Given the description of an element on the screen output the (x, y) to click on. 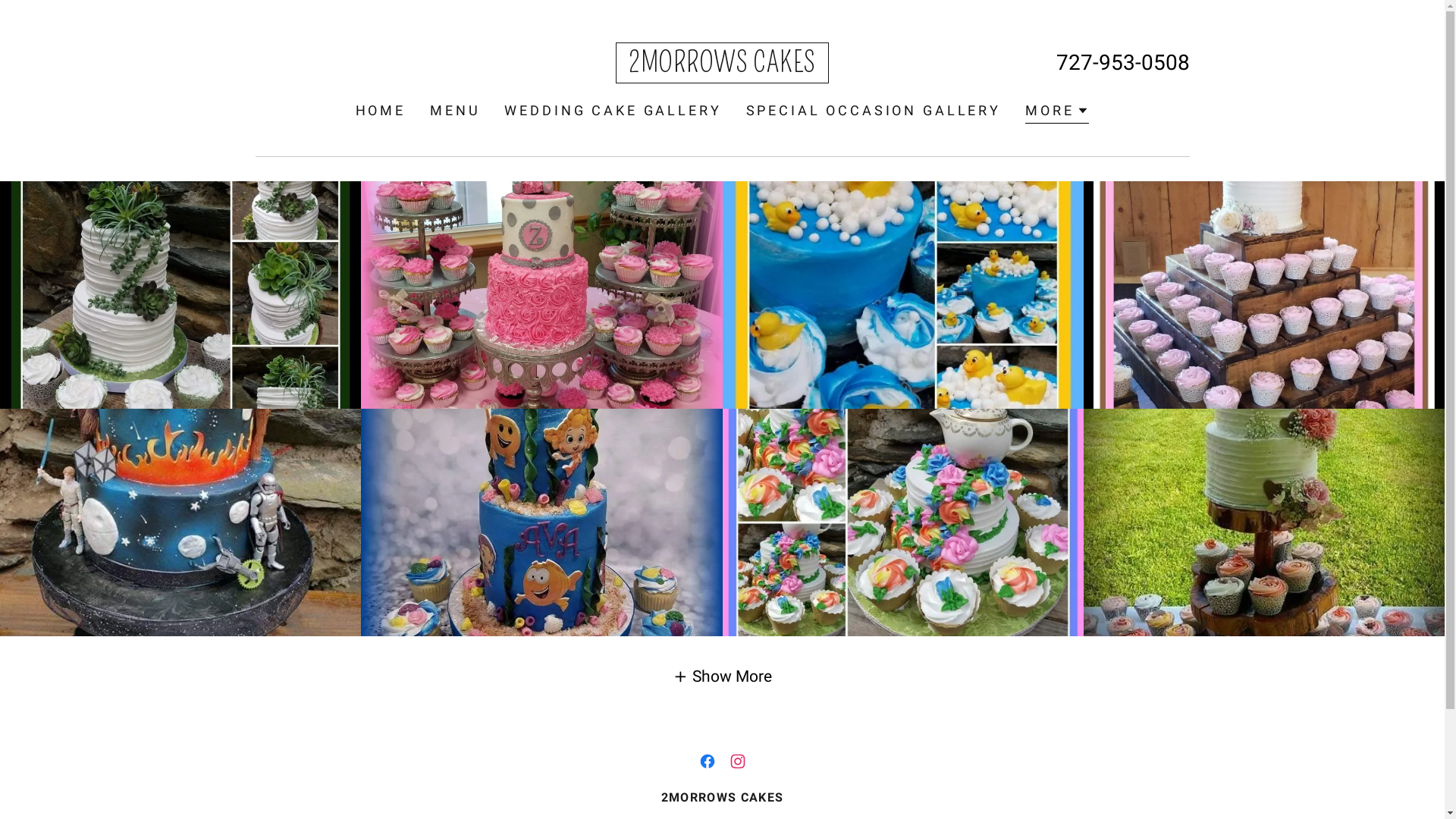
727-953-0508 Element type: text (1122, 62)
WEDDING CAKE GALLERY Element type: text (612, 110)
HOME Element type: text (380, 110)
MORE Element type: text (1056, 112)
2MORROWS CAKES Element type: text (722, 66)
SPECIAL OCCASION GALLERY Element type: text (873, 110)
MENU Element type: text (454, 110)
Show More Element type: text (721, 675)
